Given the description of an element on the screen output the (x, y) to click on. 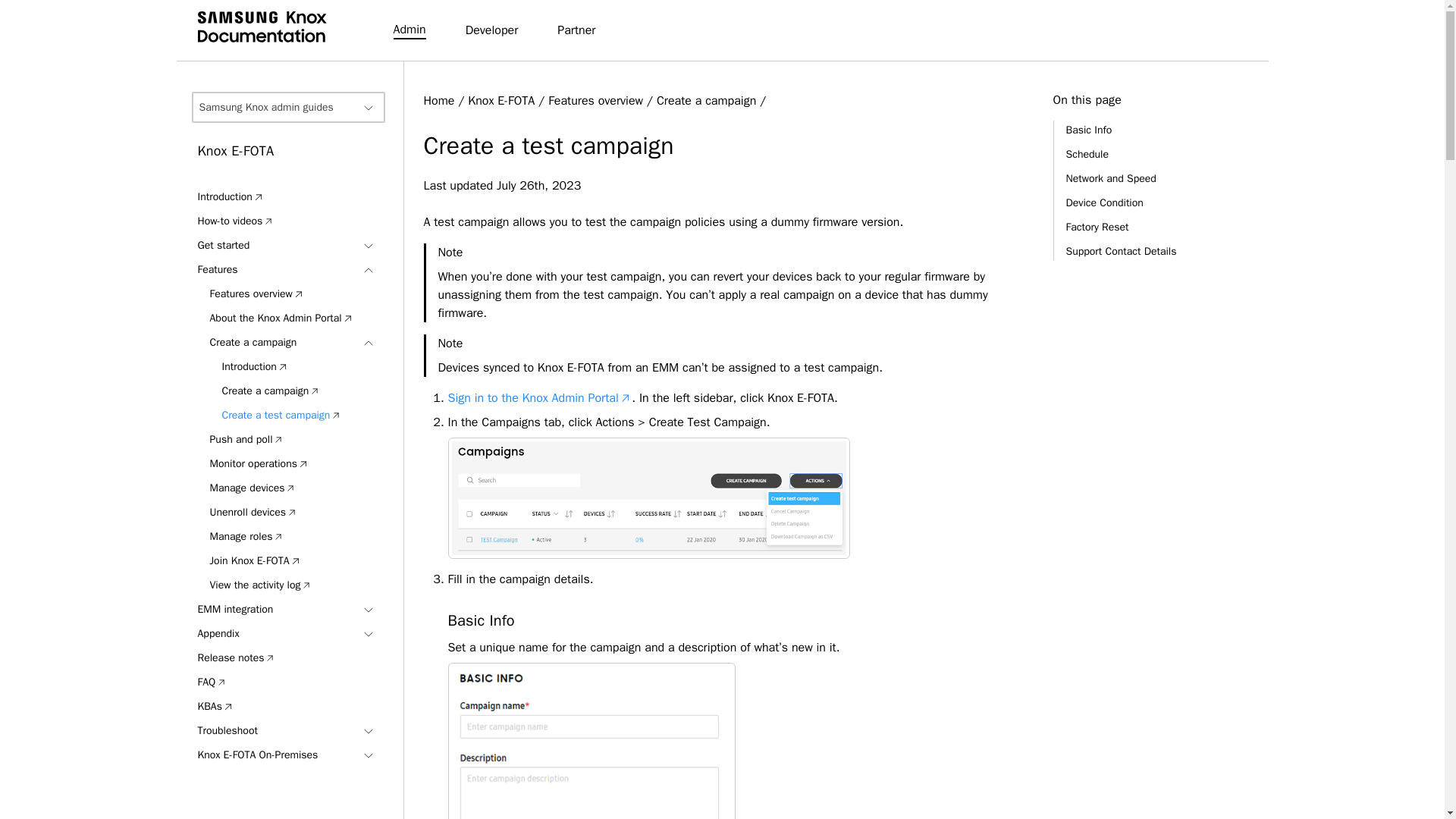
How-to videos (234, 221)
Features overview (256, 294)
Admin (409, 30)
Push and poll (246, 439)
Samsung Knox admin guides (287, 106)
Developer (491, 30)
Create a campaign (270, 391)
Introduction (229, 196)
Create a test campaign (280, 415)
About the Knox Admin Portal (281, 318)
